Given the description of an element on the screen output the (x, y) to click on. 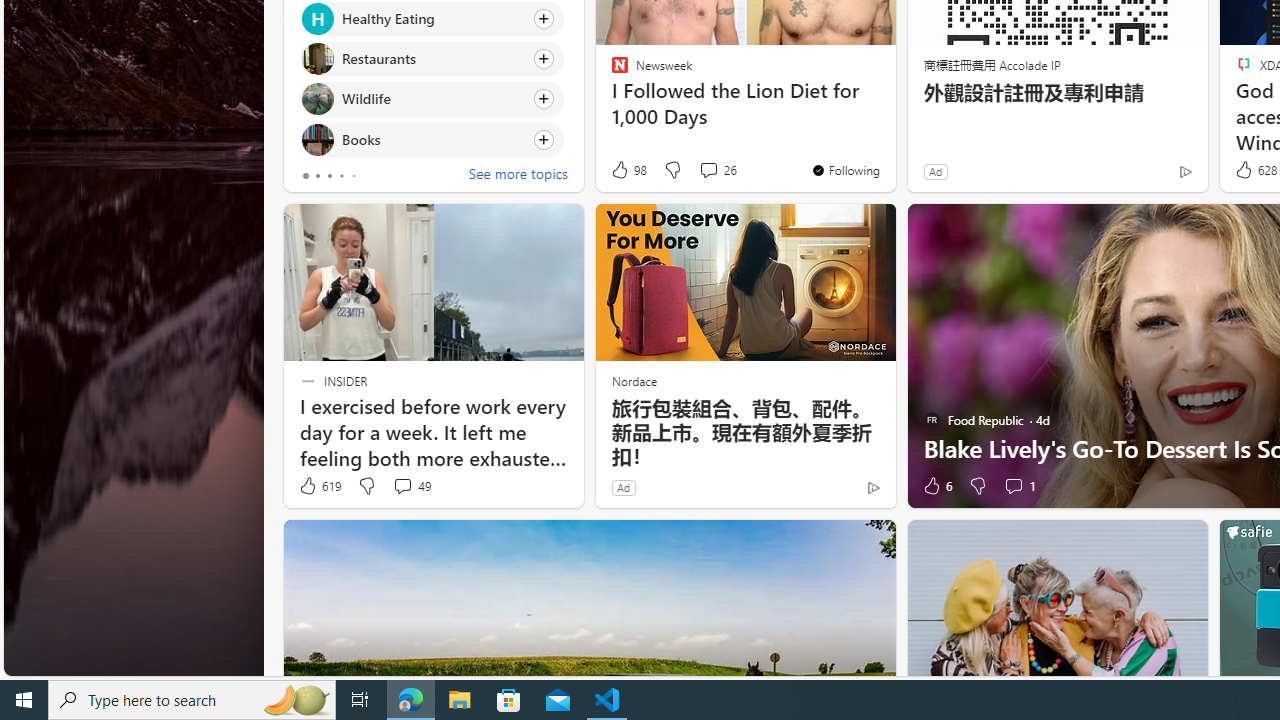
Dislike (976, 485)
6 Like (936, 485)
See more topics (518, 175)
You're following Newsweek (845, 169)
Wildlife (317, 98)
tab-0 (305, 175)
Ad (623, 487)
Ad Choice (873, 487)
View comments 26 Comment (708, 169)
View comments 26 Comment (716, 170)
Books (317, 139)
View comments 49 Comment (411, 485)
tab-2 (328, 175)
Nordace (633, 380)
